Given the description of an element on the screen output the (x, y) to click on. 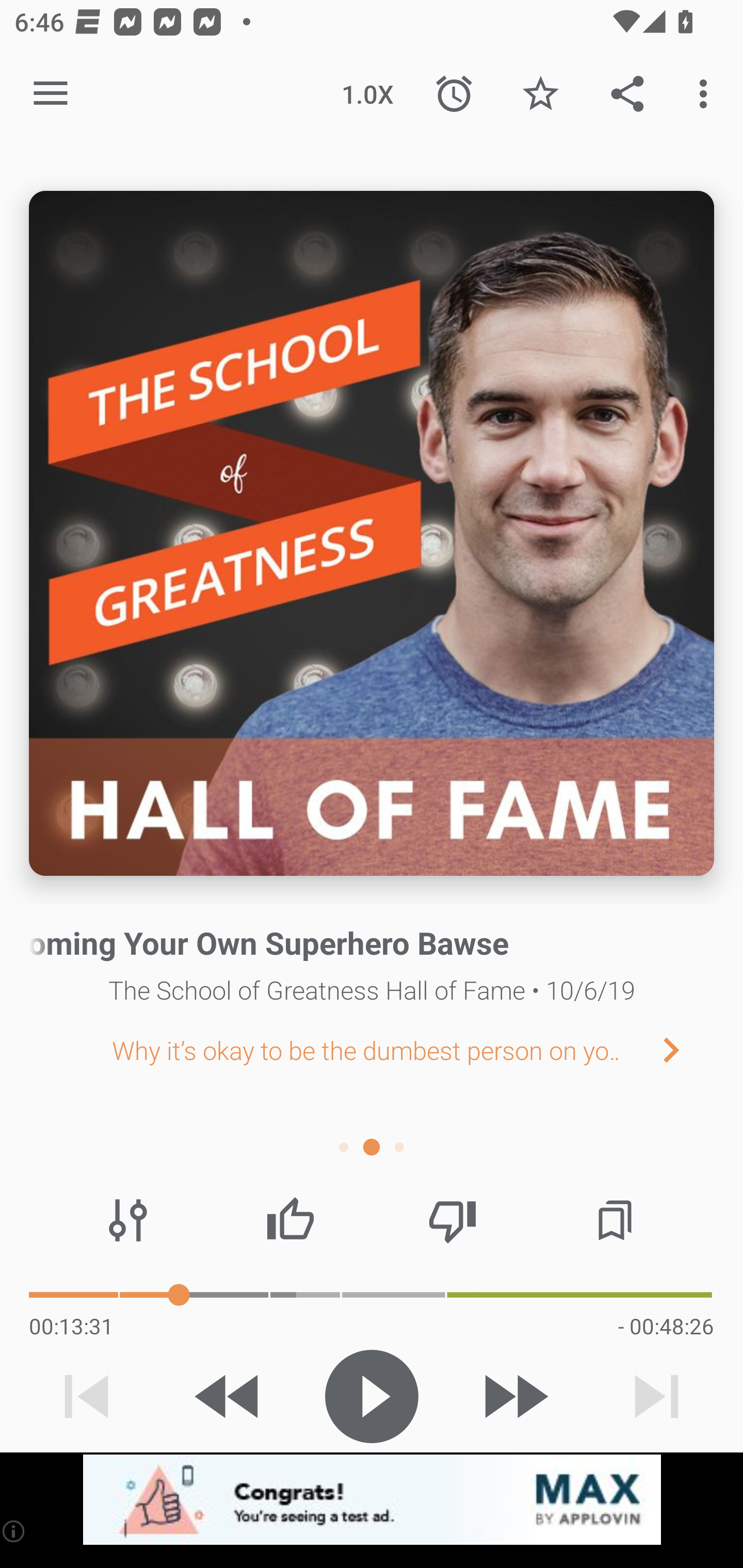
Open navigation sidebar (50, 93)
1.0X (366, 93)
Sleep Timer (453, 93)
Favorite (540, 93)
Share (626, 93)
More options (706, 93)
Episode description (371, 533)
Next Chapter (686, 1049)
Audio effects (127, 1220)
Thumbs up (290, 1220)
Thumbs down (452, 1220)
Chapters / Bookmarks (614, 1220)
- 00:48:26 (666, 1325)
Previous track (86, 1395)
Skip 15s backward (228, 1395)
Play / Pause (371, 1395)
Skip 30s forward (513, 1395)
Next track (656, 1395)
app-monetization (371, 1500)
(i) (14, 1531)
